Given the description of an element on the screen output the (x, y) to click on. 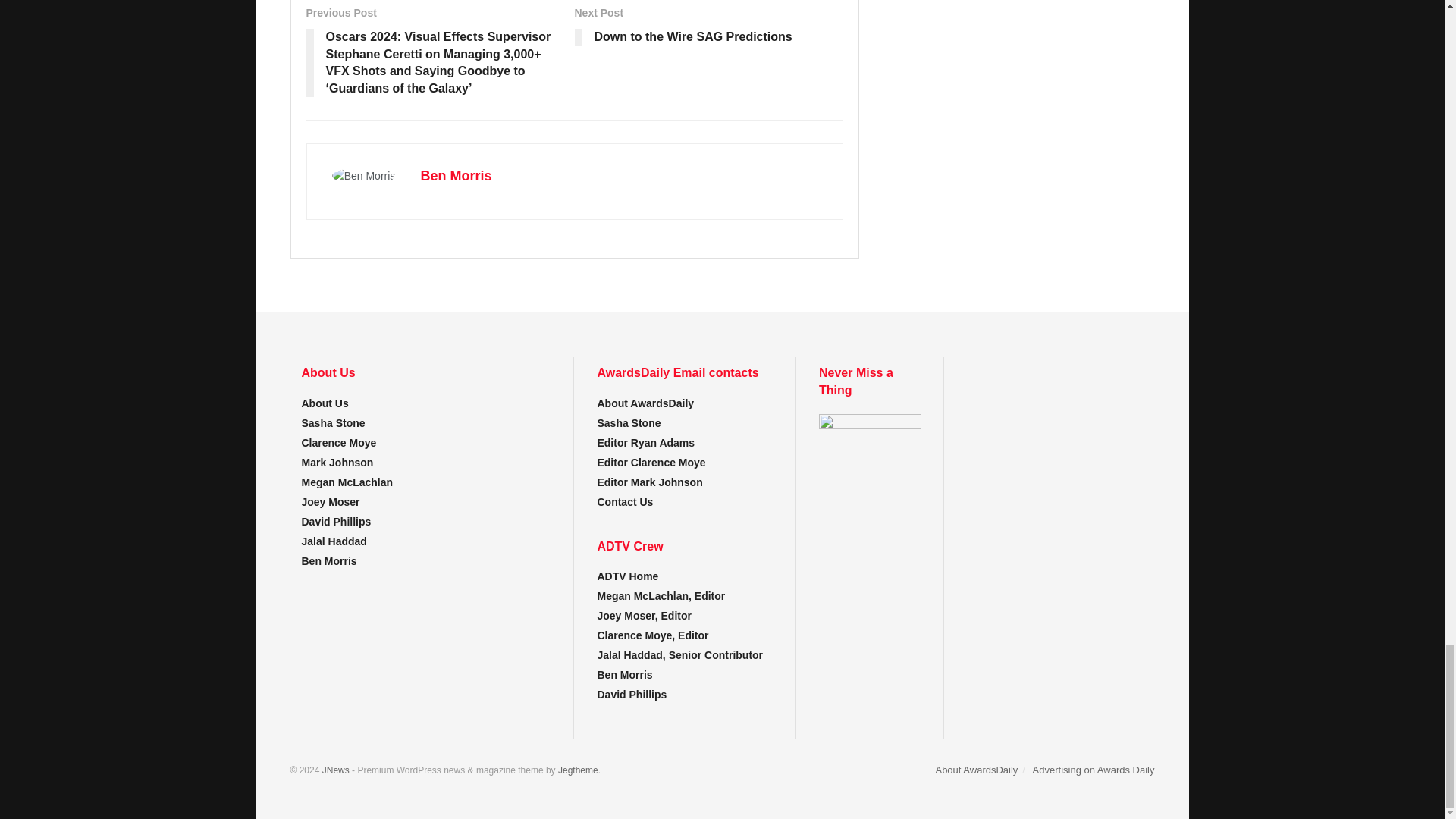
Jegtheme (577, 769)
